Given the description of an element on the screen output the (x, y) to click on. 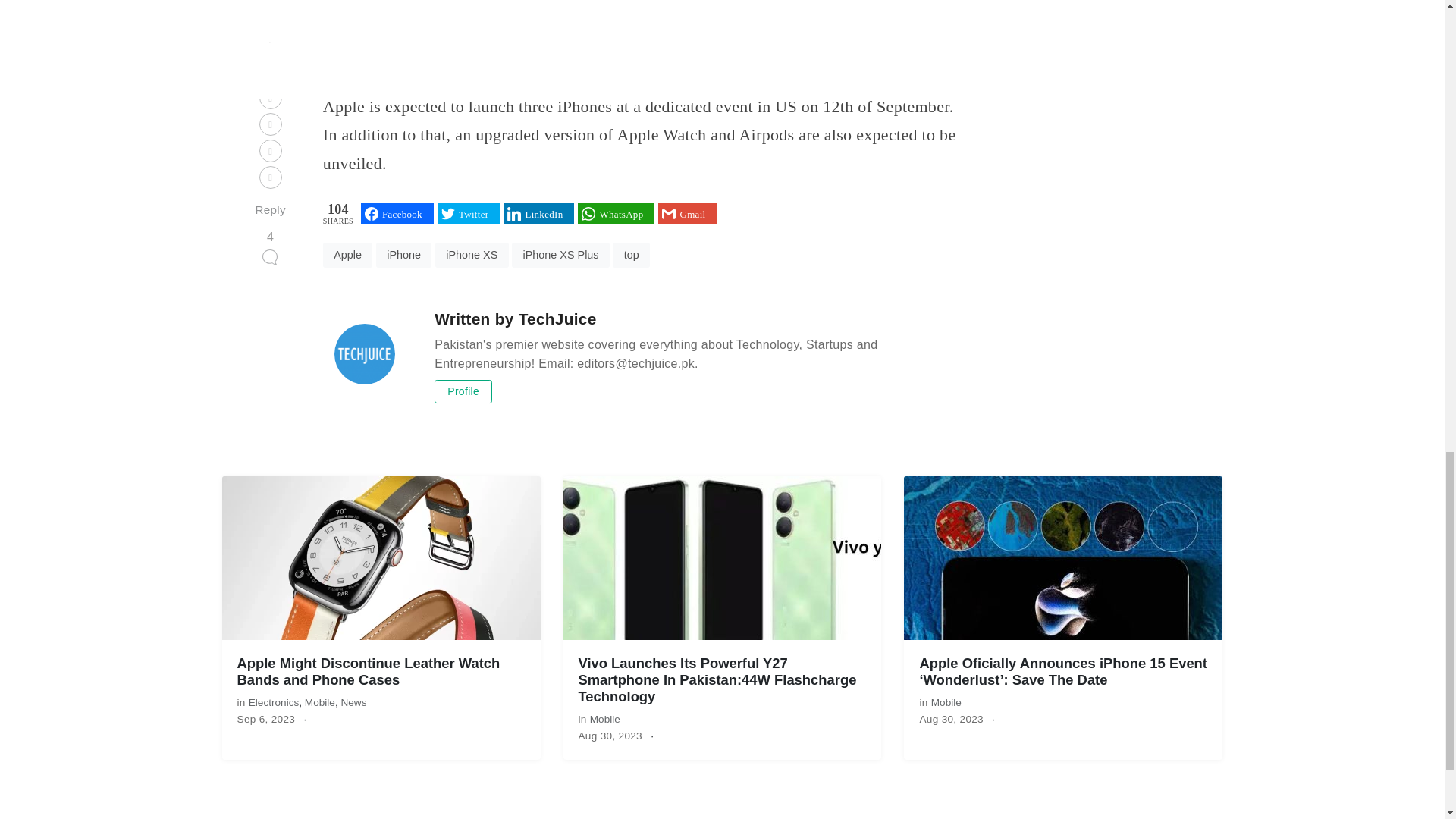
Share on Gmail (687, 213)
Share on WhatsApp (615, 213)
Share on LinkedIn (538, 213)
Share on Twitter (468, 213)
Share on Facebook (397, 213)
